Given the description of an element on the screen output the (x, y) to click on. 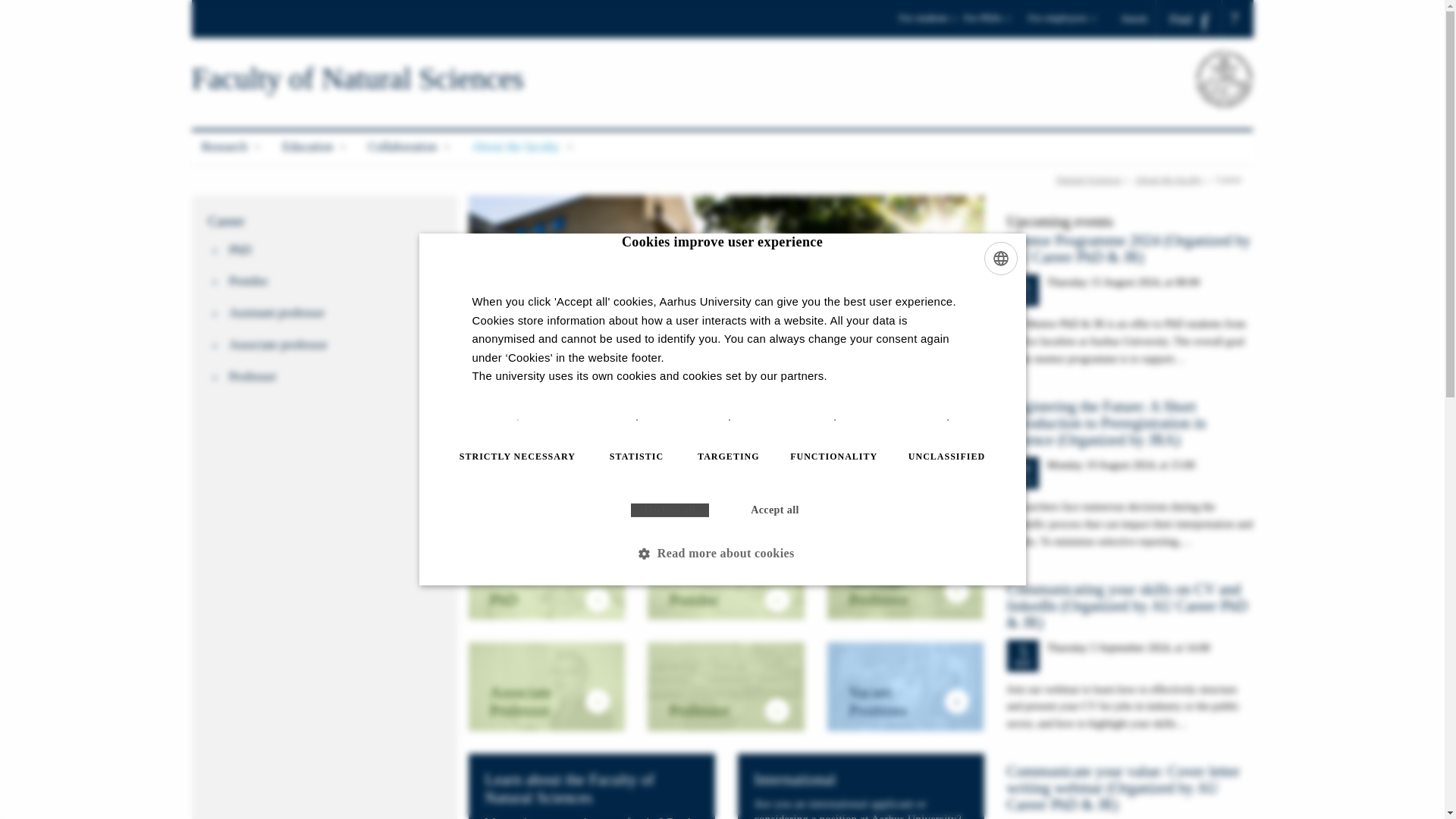
Search (17, 5)
For PhDs (992, 22)
For students (927, 22)
For employees (1061, 22)
Dansk (1139, 18)
Collaboration (409, 147)
About the faculty (523, 147)
Find (1189, 19)
Education (315, 147)
Dansk (1139, 18)
Faculty of Natural Sciences (357, 78)
Research (231, 147)
